Given the description of an element on the screen output the (x, y) to click on. 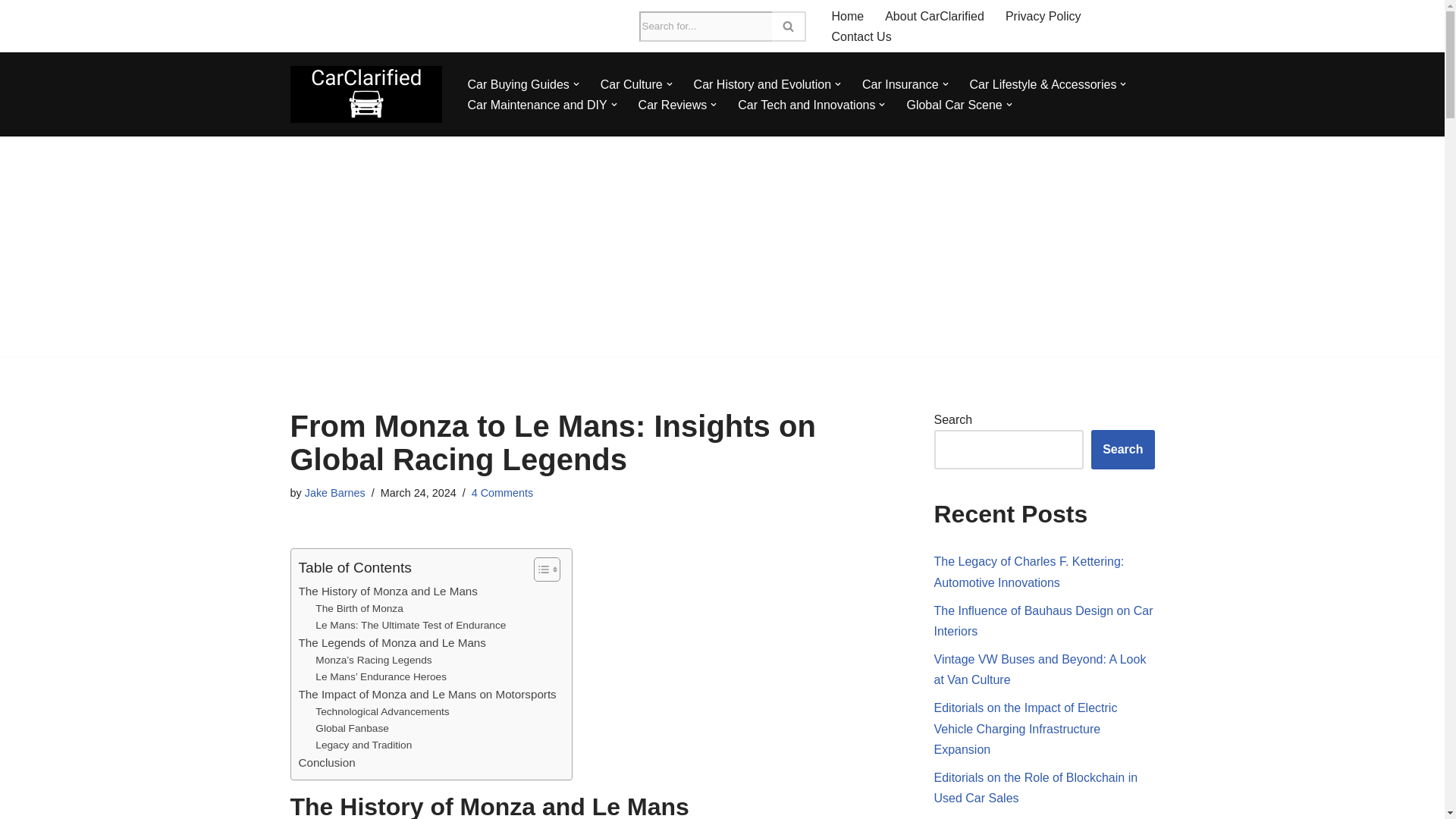
Le Mans: The Ultimate Test of Endurance (410, 625)
The Birth of Monza (359, 608)
Skip to content (11, 31)
Car Buying Guides (518, 84)
The Impact of Monza and Le Mans on Motorsports (427, 694)
Privacy Policy (1043, 15)
Car History and Evolution (762, 84)
Car Insurance (900, 84)
Posts by Jake Barnes (334, 492)
Technological Advancements (381, 711)
